Given the description of an element on the screen output the (x, y) to click on. 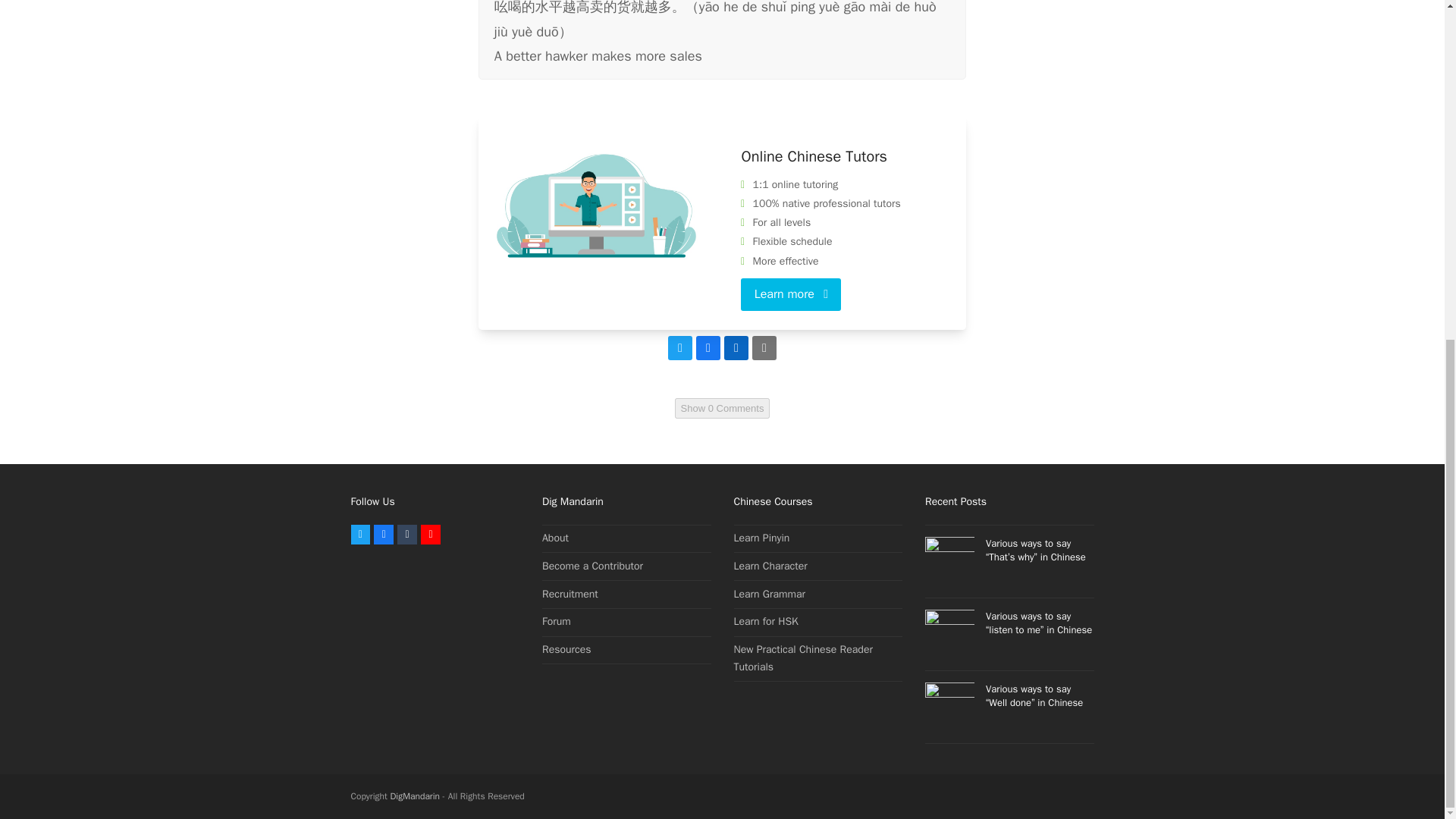
YouTube (430, 534)
Recruitment (569, 594)
Learn Character (770, 565)
About (555, 537)
Show 0 Comments (722, 408)
Tumblr (406, 534)
Twitter (359, 534)
Tumblr (406, 534)
Share on LinkedIn (735, 347)
Learn Pinyin (761, 537)
